Given the description of an element on the screen output the (x, y) to click on. 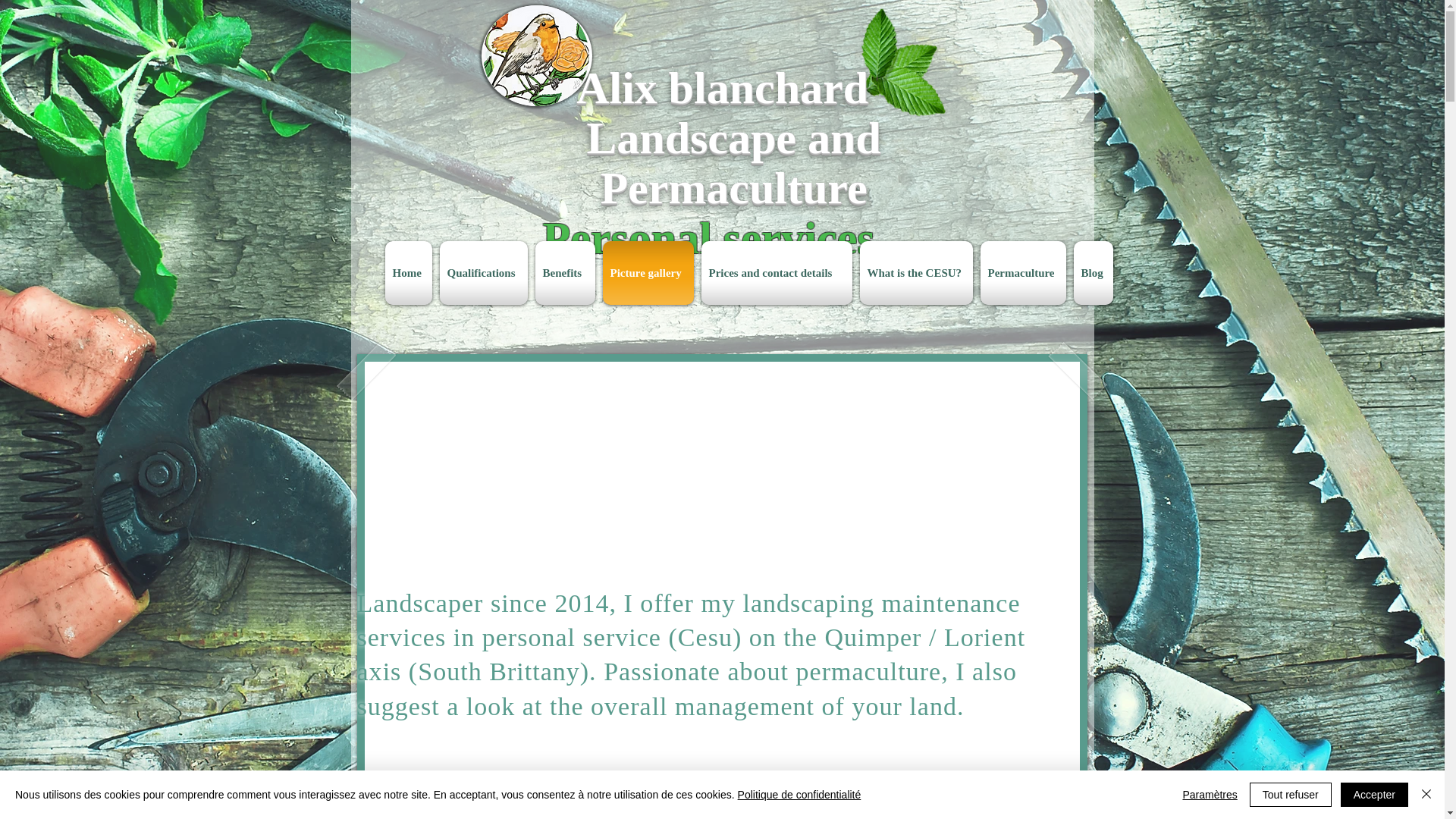
Facebook Like (1042, 296)
Permaculture (1023, 272)
Alix blanchard (721, 88)
Prices and contact details (776, 272)
Picture gallery (647, 272)
Landscape and Permaculture (733, 162)
Accepter (1373, 794)
What is the CESU? (915, 272)
Visitor Analytics (1200, 340)
Benefits (564, 272)
Qualifications (483, 272)
Tout refuser (1290, 794)
